Given the description of an element on the screen output the (x, y) to click on. 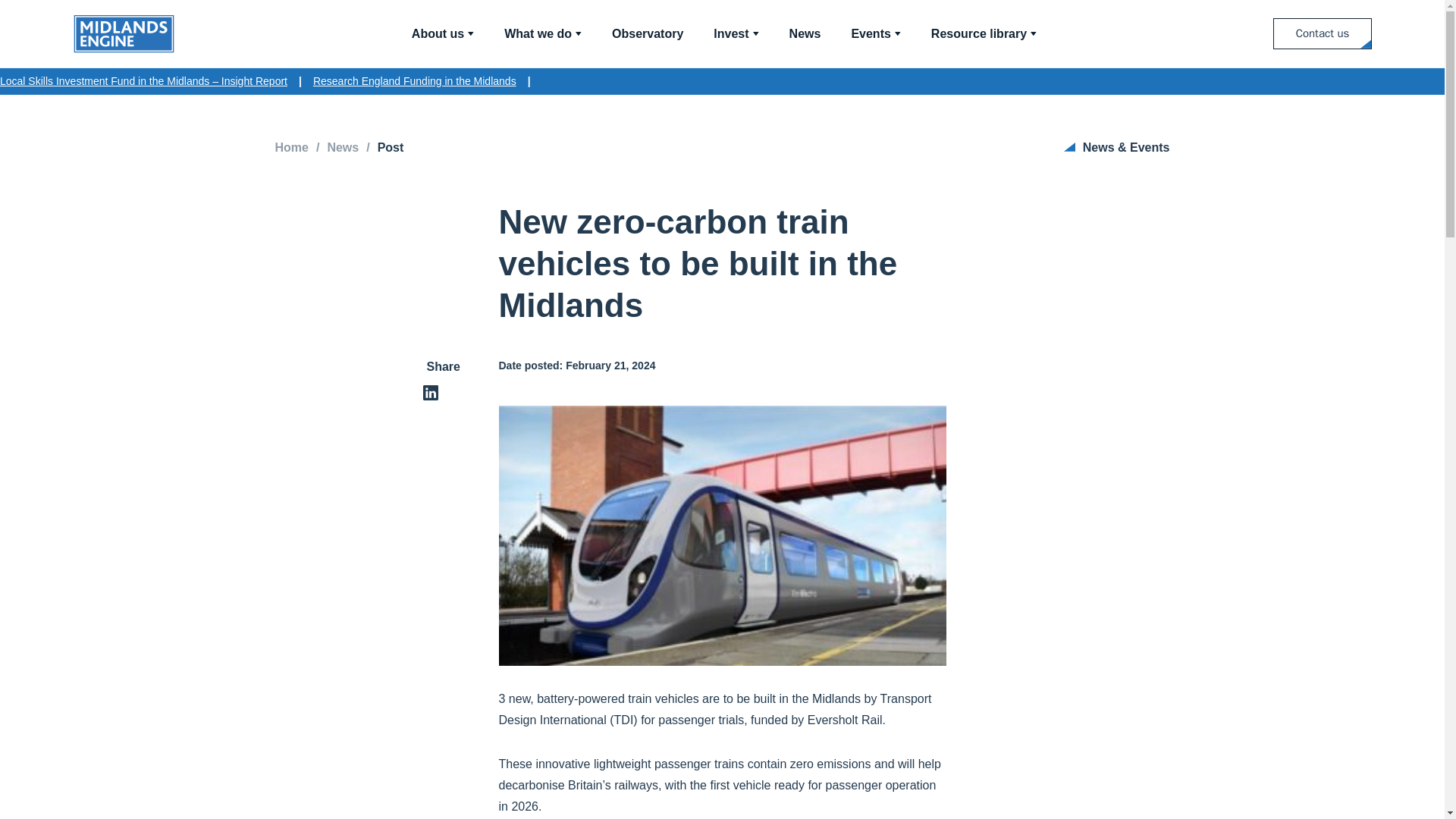
Observatory (646, 33)
Invest (735, 33)
Resource library (983, 33)
Contact us (1321, 33)
About us (443, 33)
What we do (541, 33)
Research England Funding in the Midlands (414, 81)
News (805, 33)
Events (874, 33)
